Given the description of an element on the screen output the (x, y) to click on. 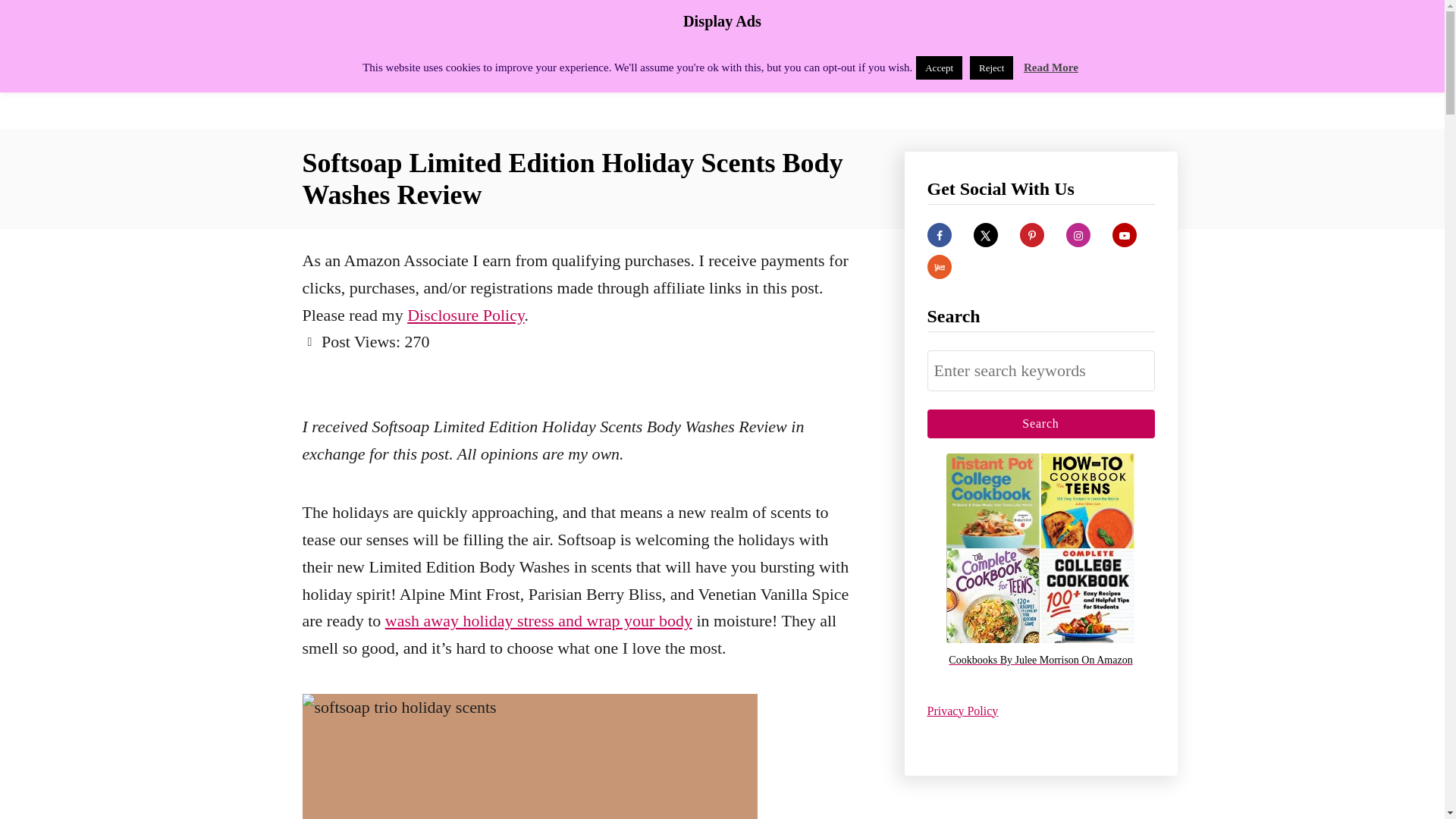
Search (1040, 423)
Follow on Instagram (1077, 234)
Follow on X (985, 234)
Follow on Pinterest (1031, 234)
Read More (1050, 67)
softsoap trio holiday scents (529, 756)
Search (1040, 423)
Reject (991, 67)
Search for: (1040, 370)
Accept (938, 67)
Follow on YouTube (1124, 234)
Mommy's Memorandum (433, 64)
Search (1040, 423)
Follow on Facebook (938, 234)
